Given the description of an element on the screen output the (x, y) to click on. 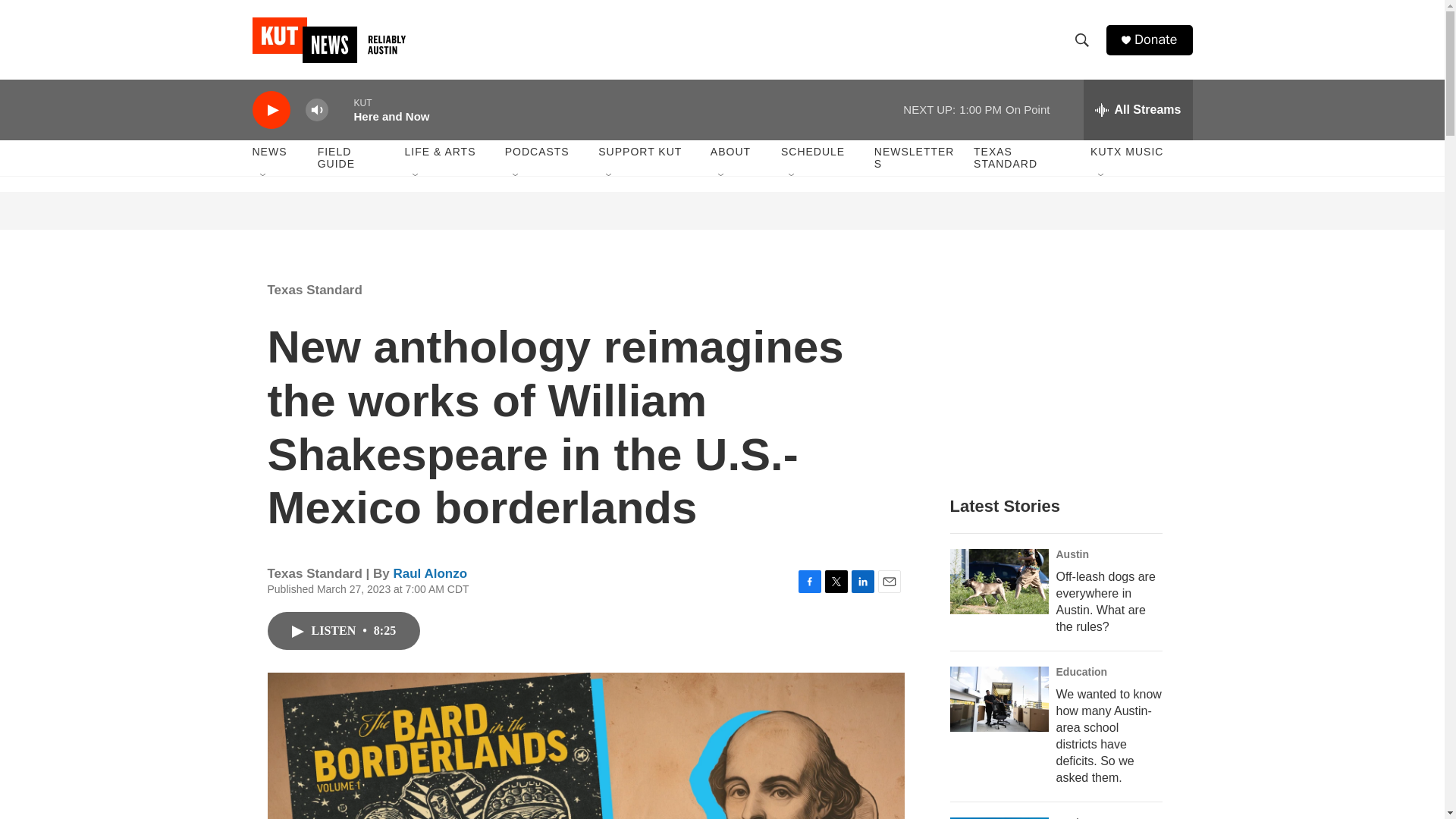
3rd party ad content (722, 210)
3rd party ad content (1062, 370)
